Given the description of an element on the screen output the (x, y) to click on. 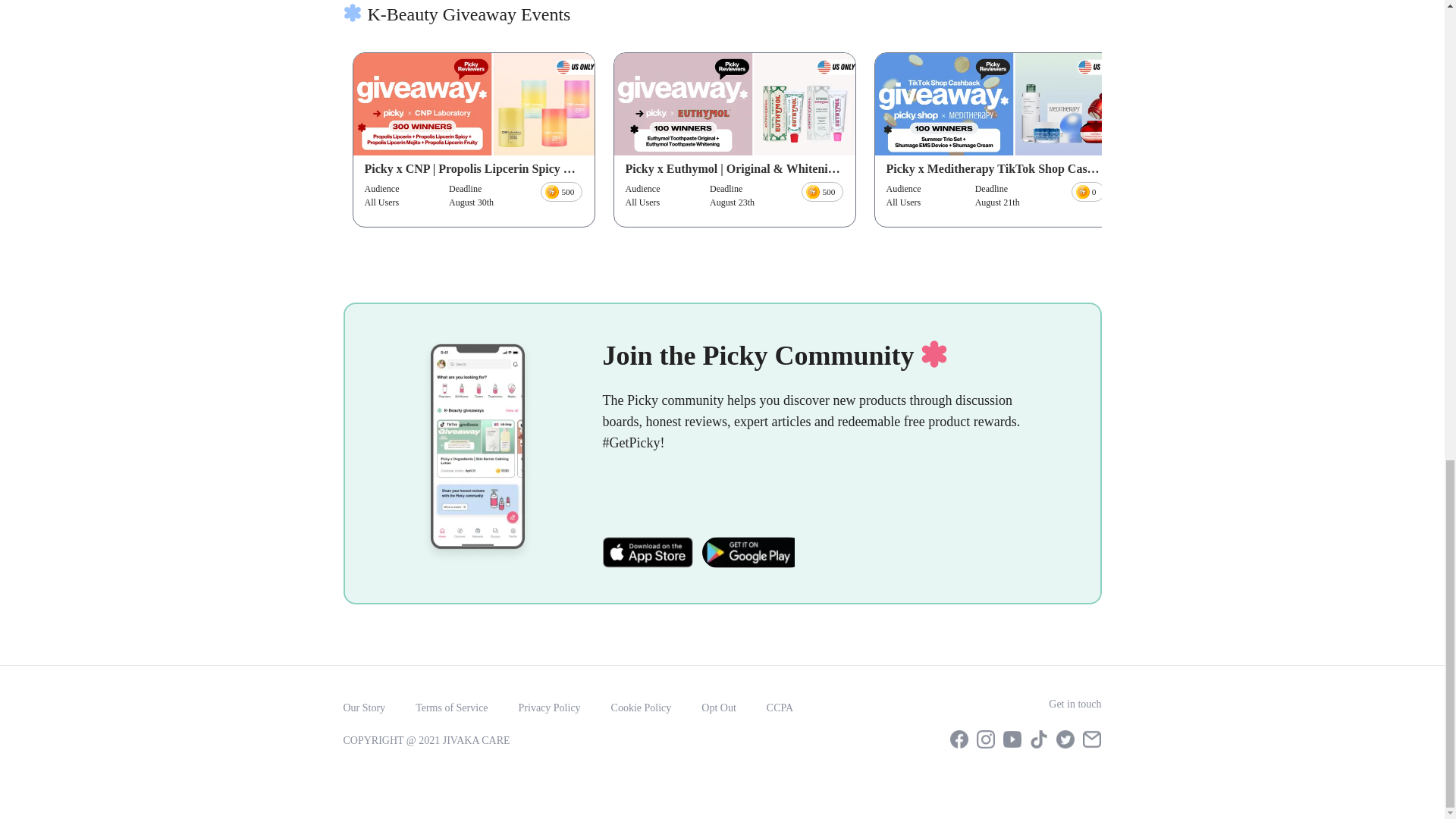
Terms of Service (450, 707)
Our Story (363, 707)
Privacy Policy (549, 707)
